Given the description of an element on the screen output the (x, y) to click on. 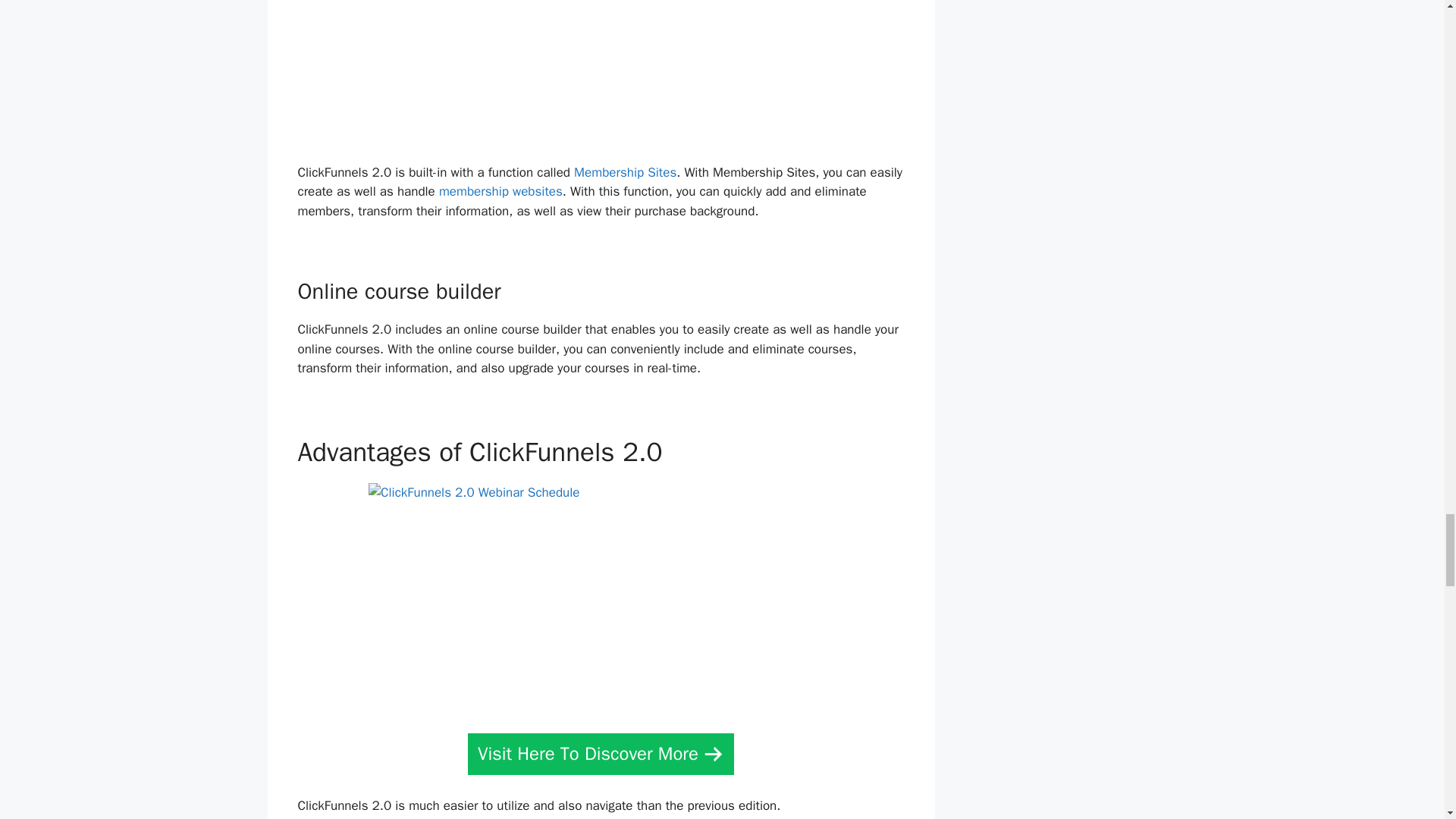
Membership Sites (625, 172)
membership websites (500, 191)
Visit Here To Discover More (600, 753)
